Given the description of an element on the screen output the (x, y) to click on. 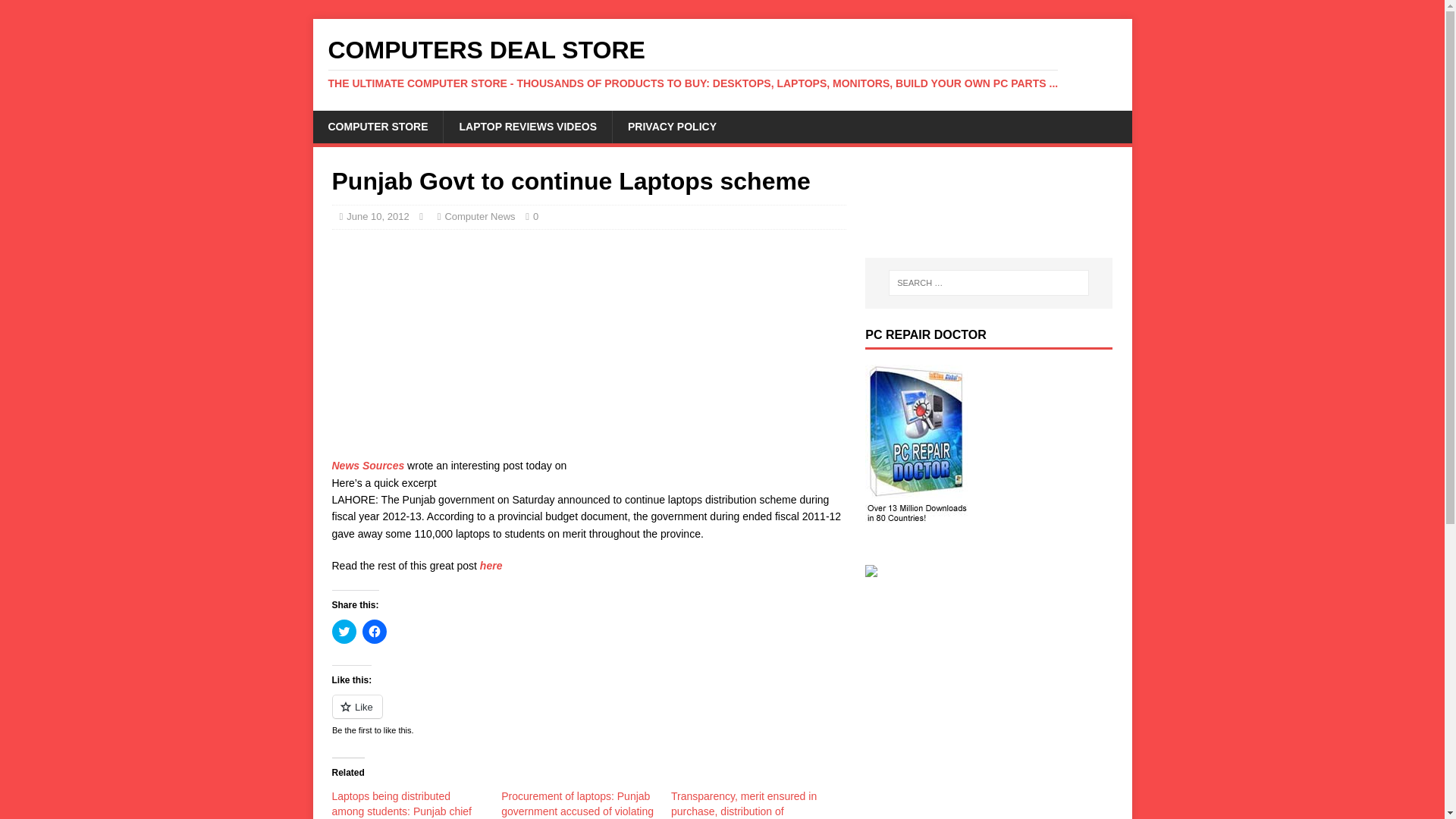
PRIVACY POLICY (671, 126)
Like or Reblog (588, 715)
Advertisement (940, 200)
Computer News (479, 215)
Advertisement (588, 350)
Click to share on Facebook (374, 631)
COMPUTER STORE (377, 126)
here (491, 565)
June 10, 2012 (377, 215)
Computers Deal Store (721, 63)
News Sources (367, 465)
Click to share on Twitter (343, 631)
LAPTOP REVIEWS VIDEOS (526, 126)
Search (56, 11)
